Given the description of an element on the screen output the (x, y) to click on. 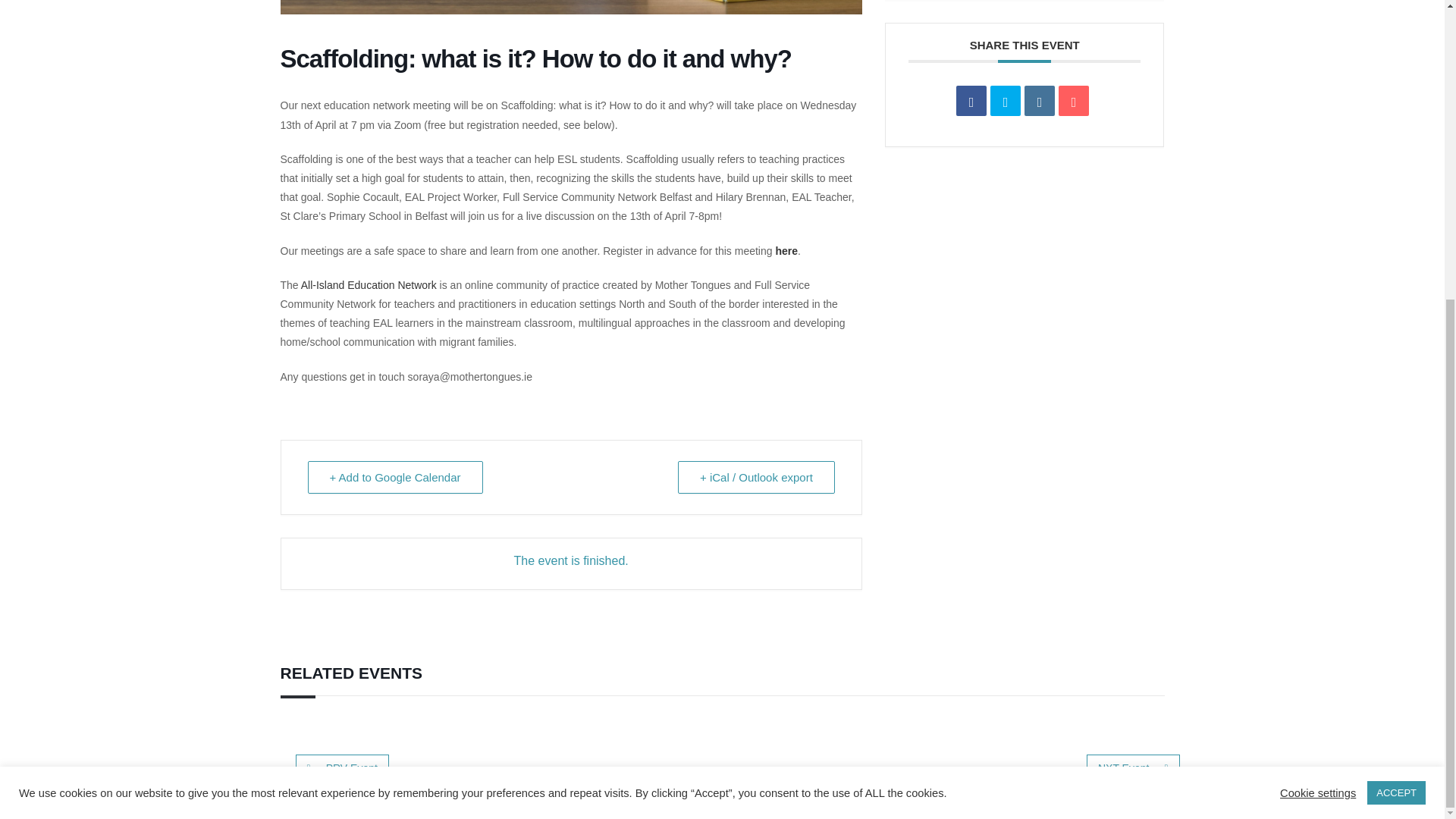
Linkedin (1039, 100)
Share on Facebook (971, 100)
Email (1073, 100)
Tweet (1005, 100)
